Given the description of an element on the screen output the (x, y) to click on. 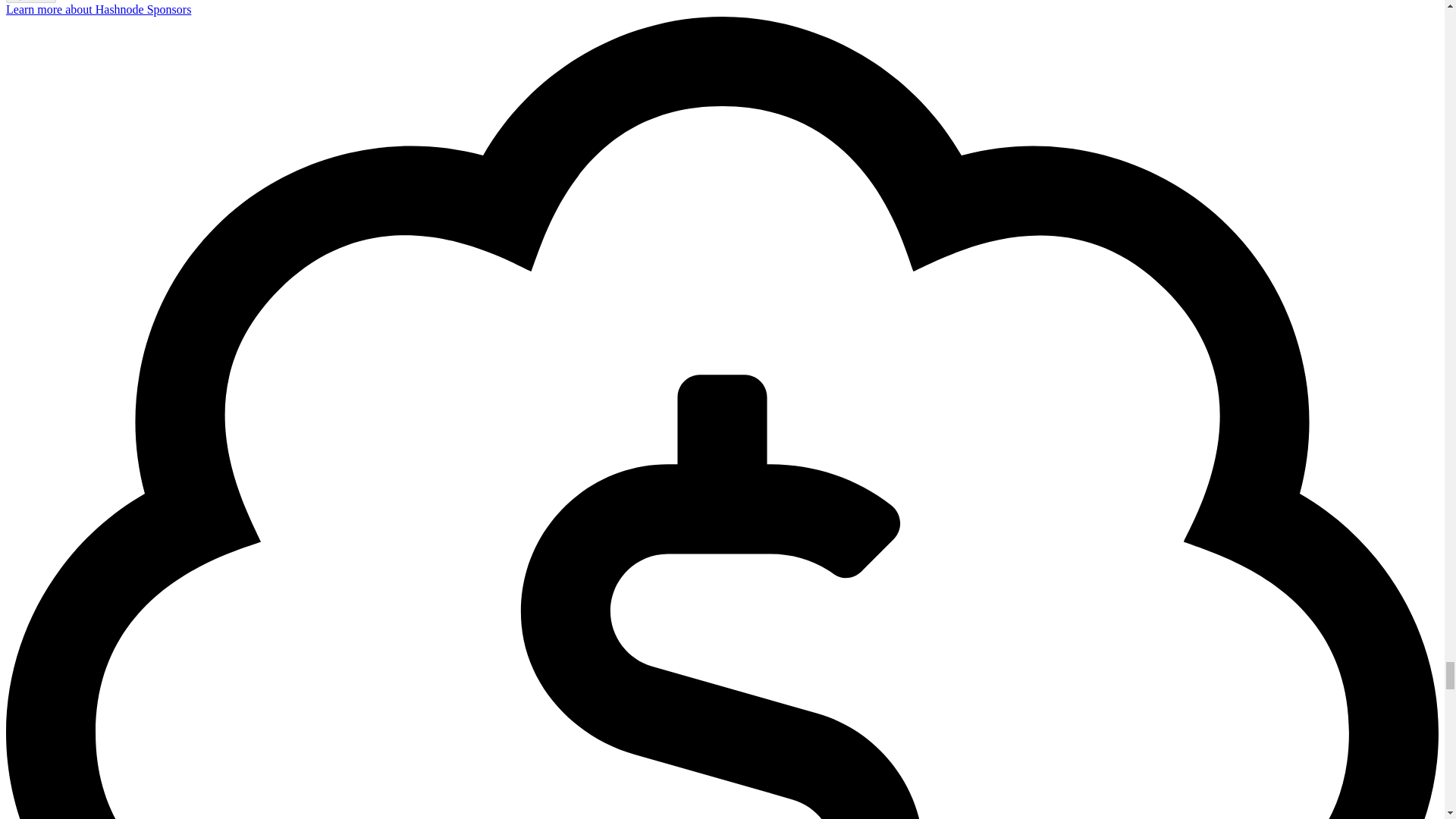
Sponsor (30, 1)
Learn more about Hashnode Sponsors (97, 9)
